Given the description of an element on the screen output the (x, y) to click on. 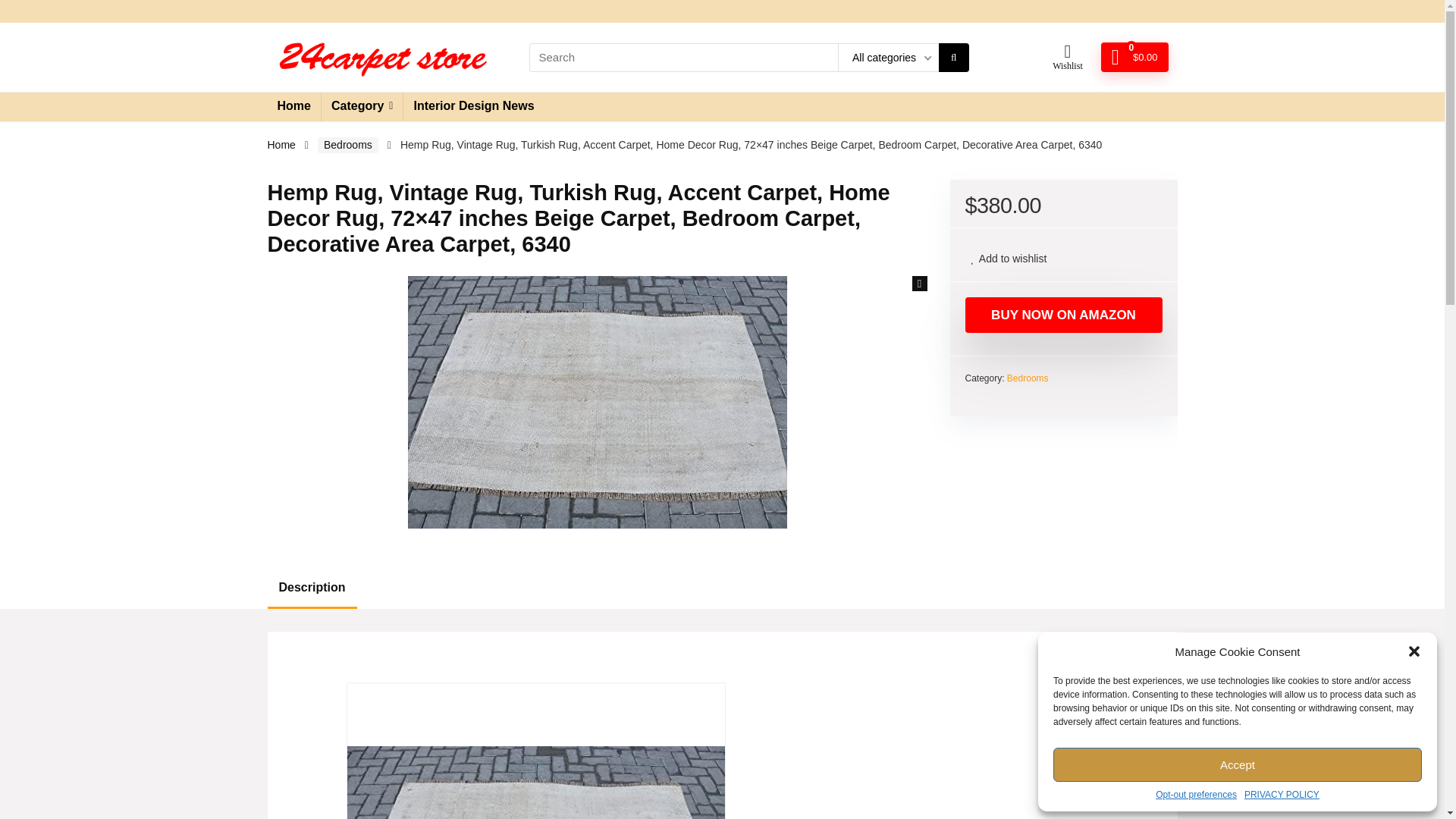
BUY NOW ON AMAZON (1062, 314)
Description (311, 587)
Category (362, 106)
Interior Design News (473, 106)
Description (721, 587)
Bedrooms (1027, 378)
Home (280, 144)
Opt-out preferences (1196, 794)
Accept (1237, 764)
Home (293, 106)
Bedrooms (347, 145)
PRIVACY POLICY (1281, 794)
